Given the description of an element on the screen output the (x, y) to click on. 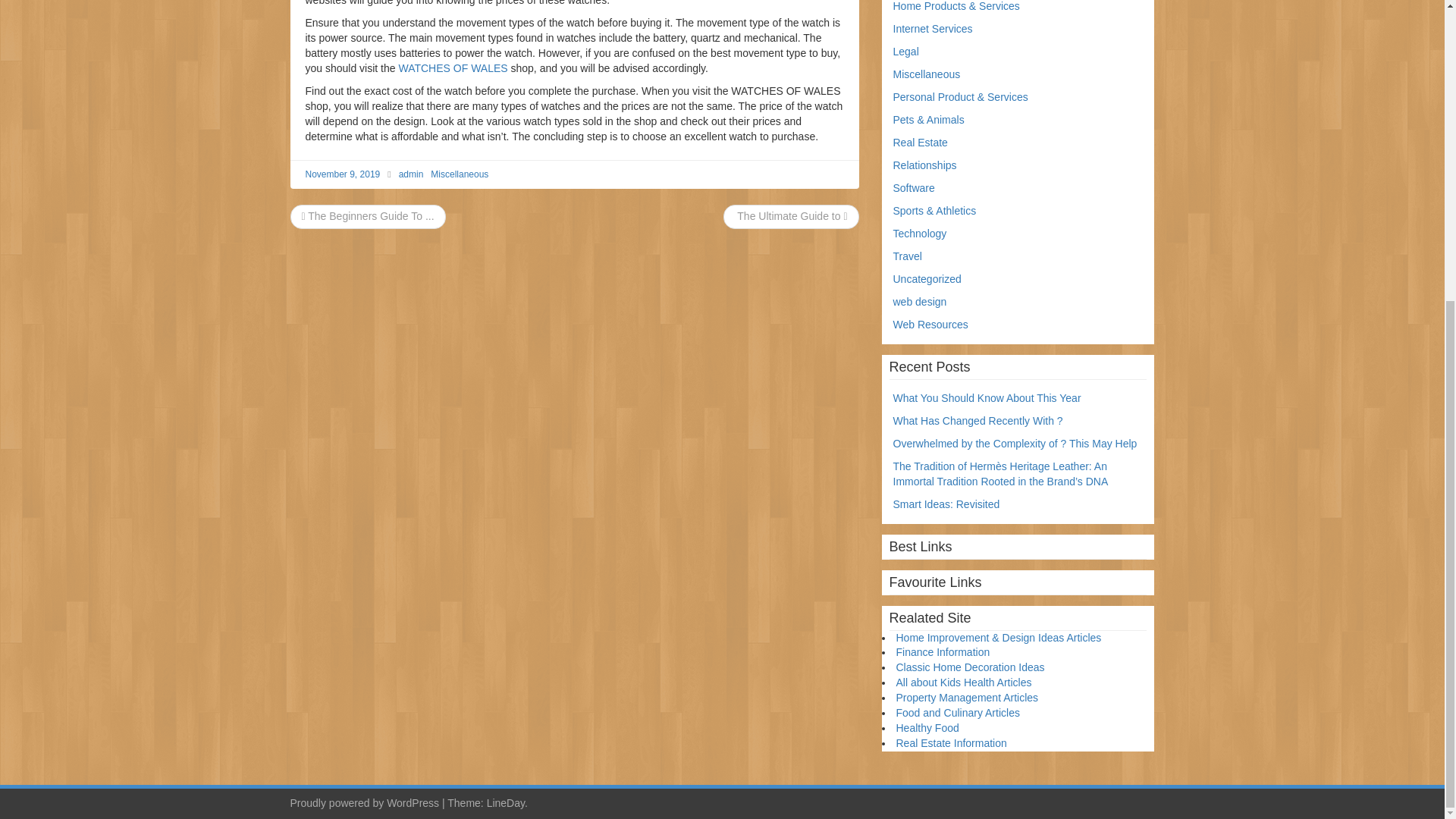
Internet Services (932, 28)
Overwhelmed by the Complexity of ? This May Help (1015, 443)
WATCHES OF WALES (451, 68)
Miscellaneous (926, 73)
Web Resources (930, 324)
web design (920, 301)
Travel (907, 256)
 The Beginners Guide To ... (367, 215)
Legal (905, 51)
Miscellaneous (458, 173)
Technology (920, 233)
Relationships (924, 164)
Uncategorized (926, 278)
Software (913, 187)
Real Estate (920, 142)
